Given the description of an element on the screen output the (x, y) to click on. 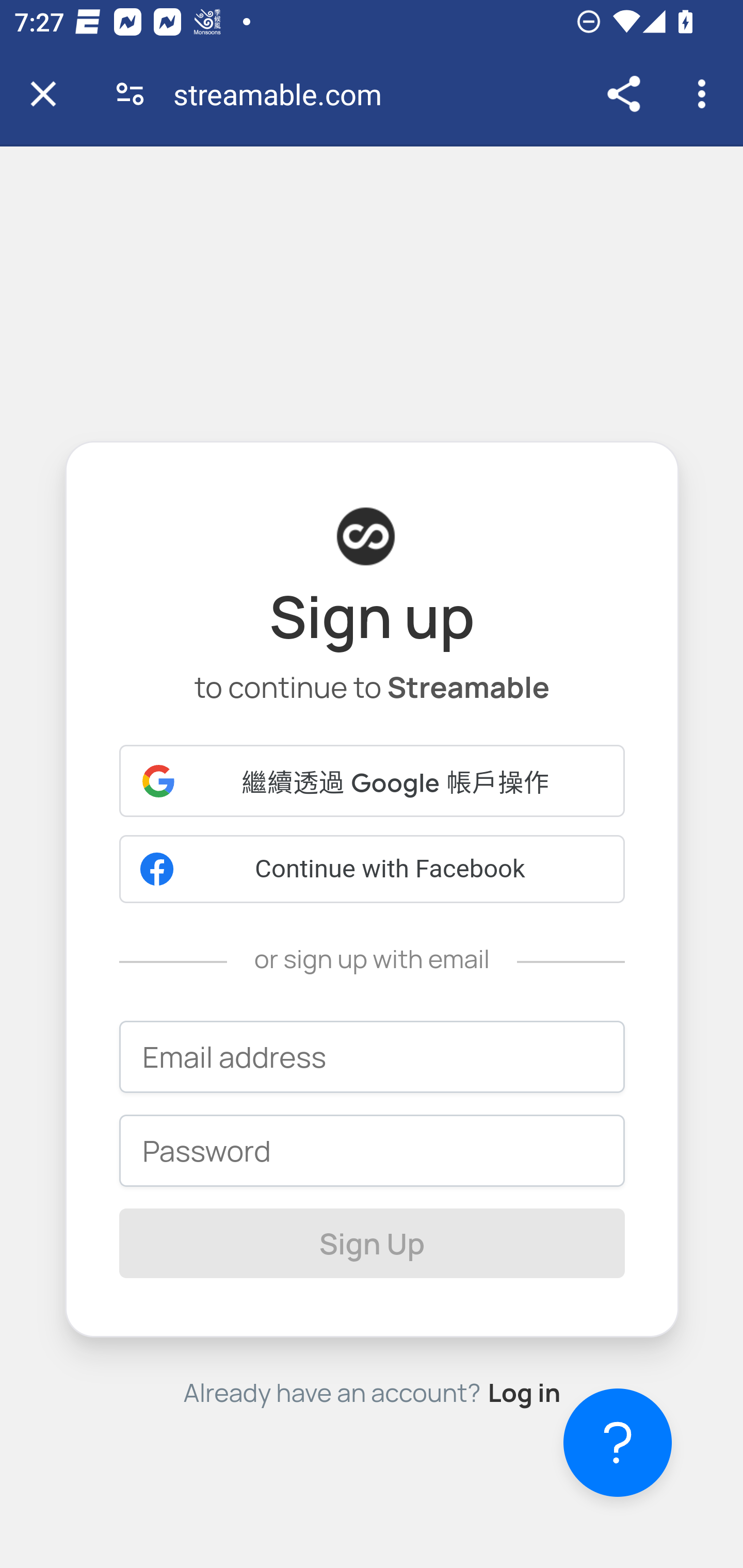
繼續透過 Google 帳戶操作 (372, 779)
Continue with Facebook (372, 869)
Sign Up (372, 1242)
